Given the description of an element on the screen output the (x, y) to click on. 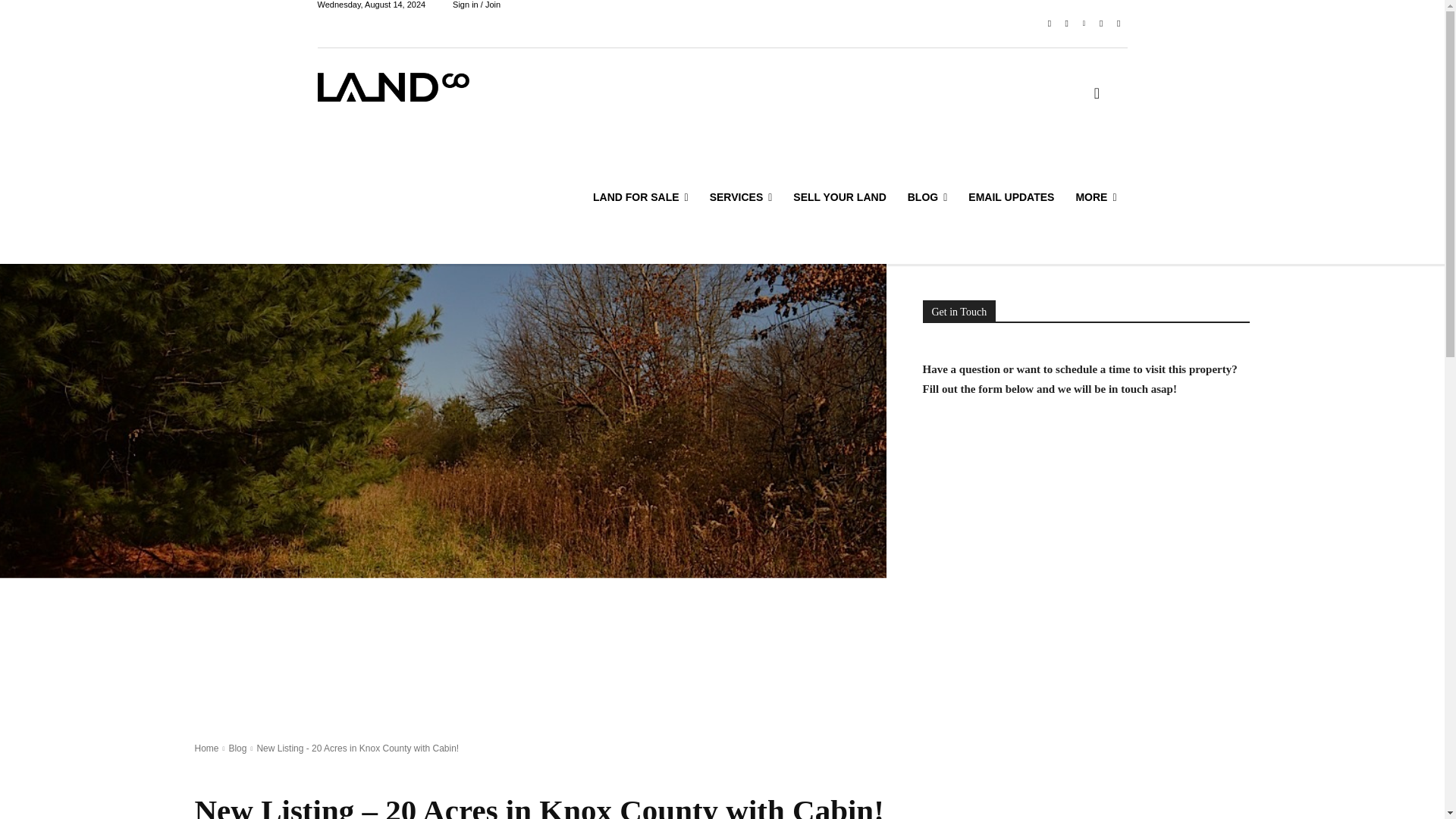
Facebook (1049, 23)
Instagram (1066, 23)
Linkedin (1084, 23)
Form 0 (1085, 658)
Twitter (1101, 23)
Youtube (1117, 23)
LAND FOR SALE (640, 197)
View all posts in Blog (237, 747)
